Given the description of an element on the screen output the (x, y) to click on. 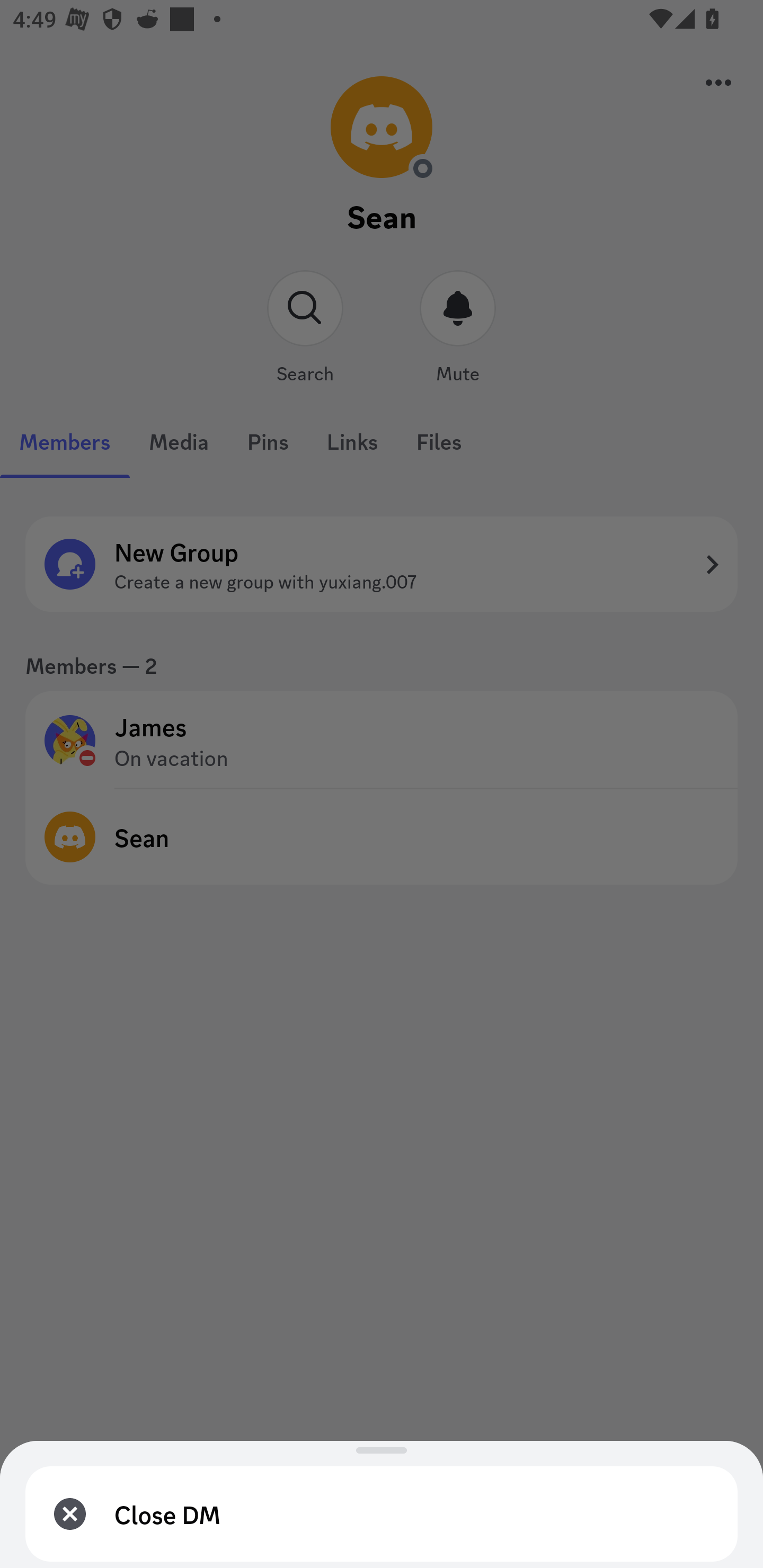
Close DM (381, 1513)
